Given the description of an element on the screen output the (x, y) to click on. 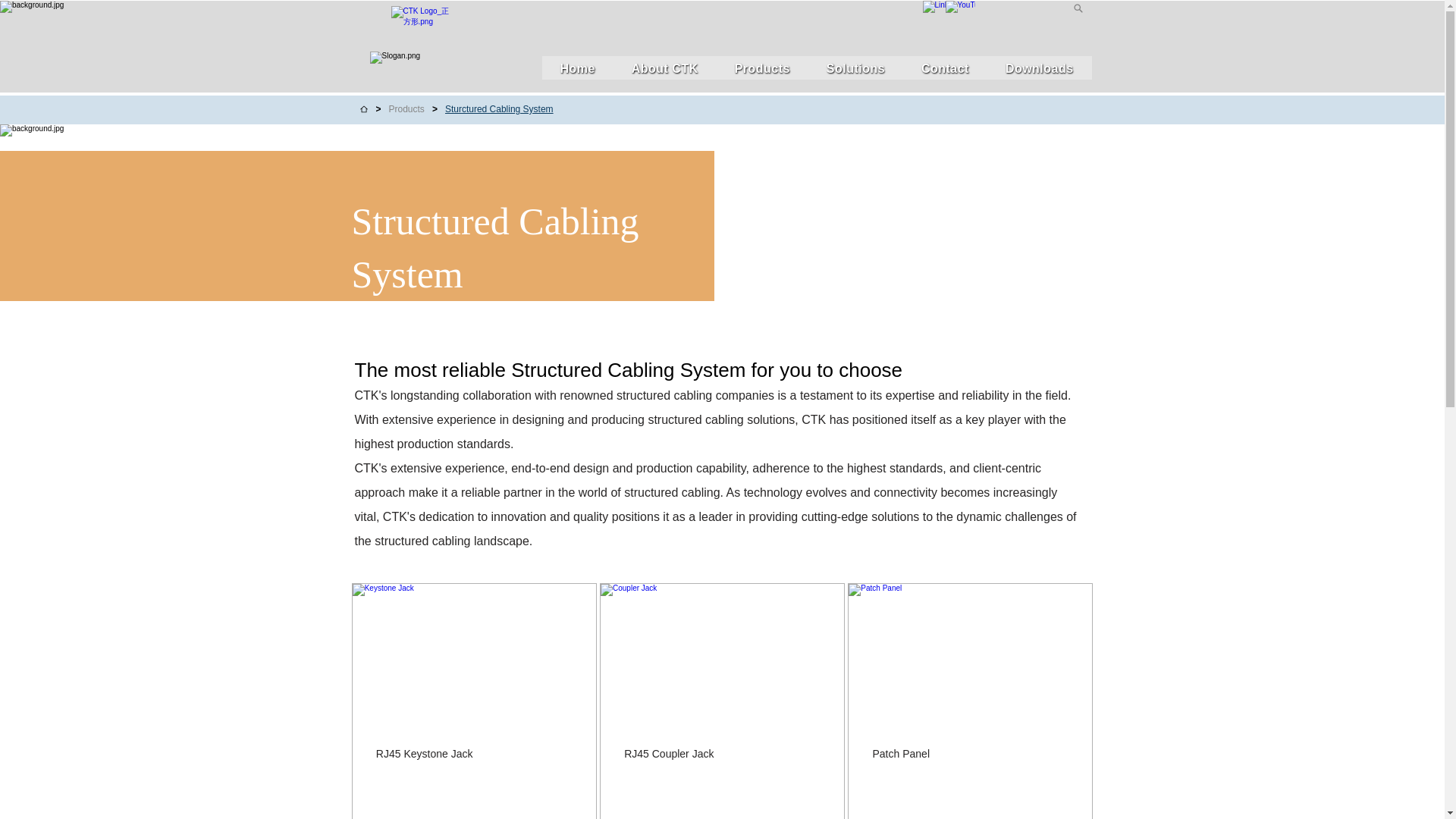
Home (576, 67)
About CTK (664, 67)
